Given the description of an element on the screen output the (x, y) to click on. 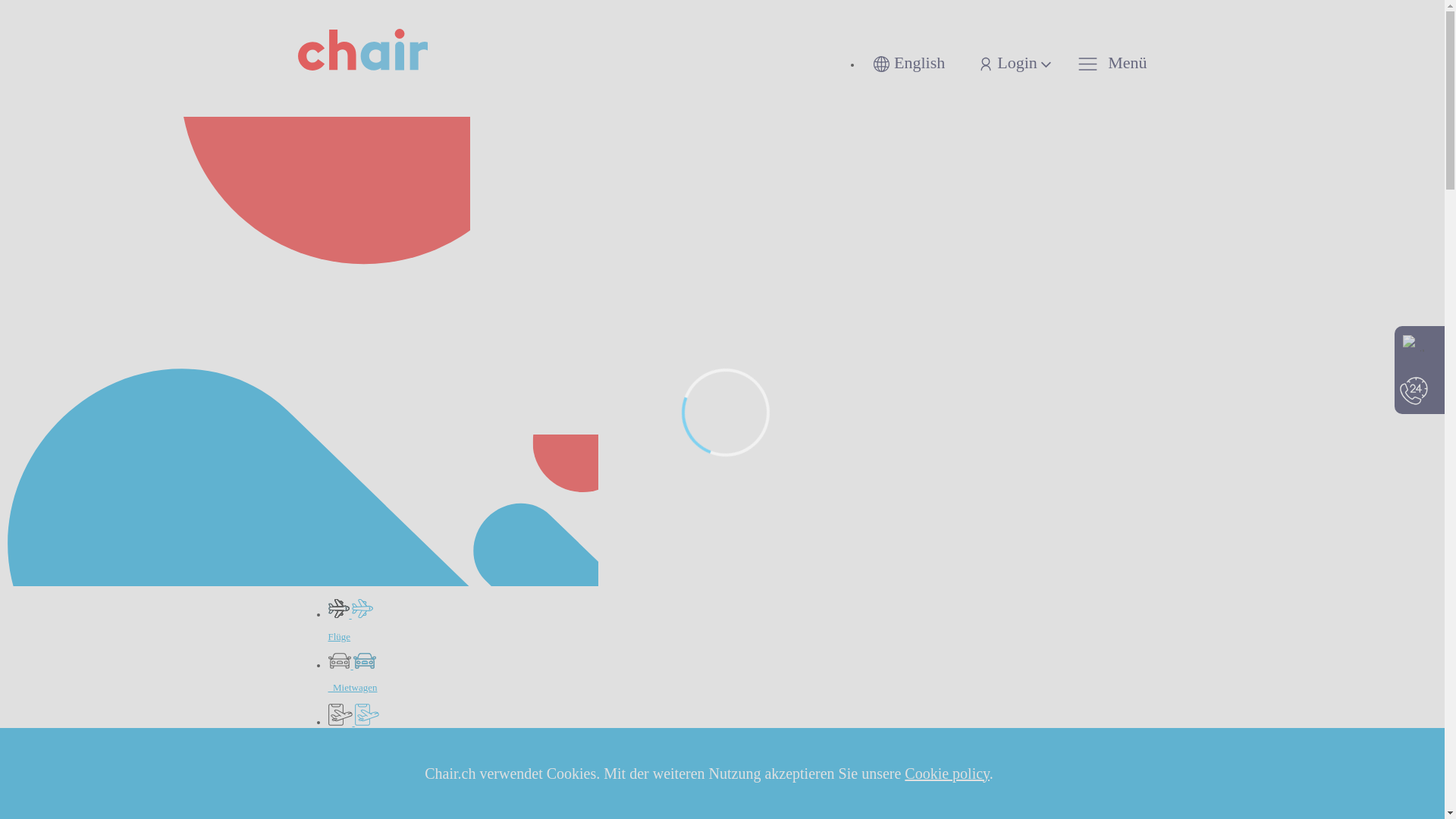
  Mietwagen Element type: text (736, 672)
Login Element type: text (1004, 62)
Cookie policy Element type: text (946, 772)
Buchungen Element type: text (736, 726)
English Element type: text (908, 62)
